Given the description of an element on the screen output the (x, y) to click on. 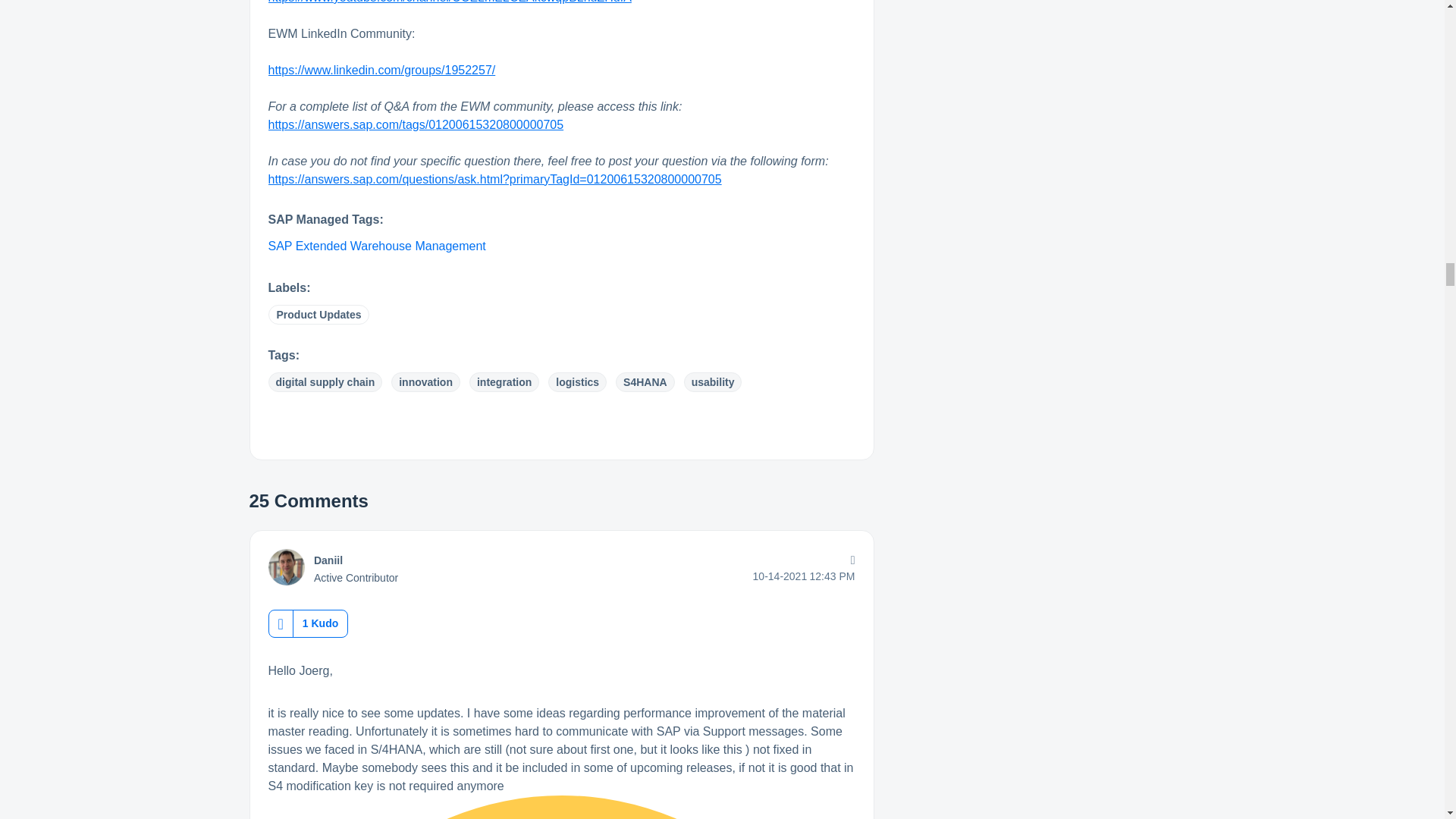
innovation (425, 382)
digital supply chain (324, 382)
logistics (577, 382)
integration (503, 382)
SAP Extended Warehouse Management (376, 245)
Product Updates (318, 314)
